Given the description of an element on the screen output the (x, y) to click on. 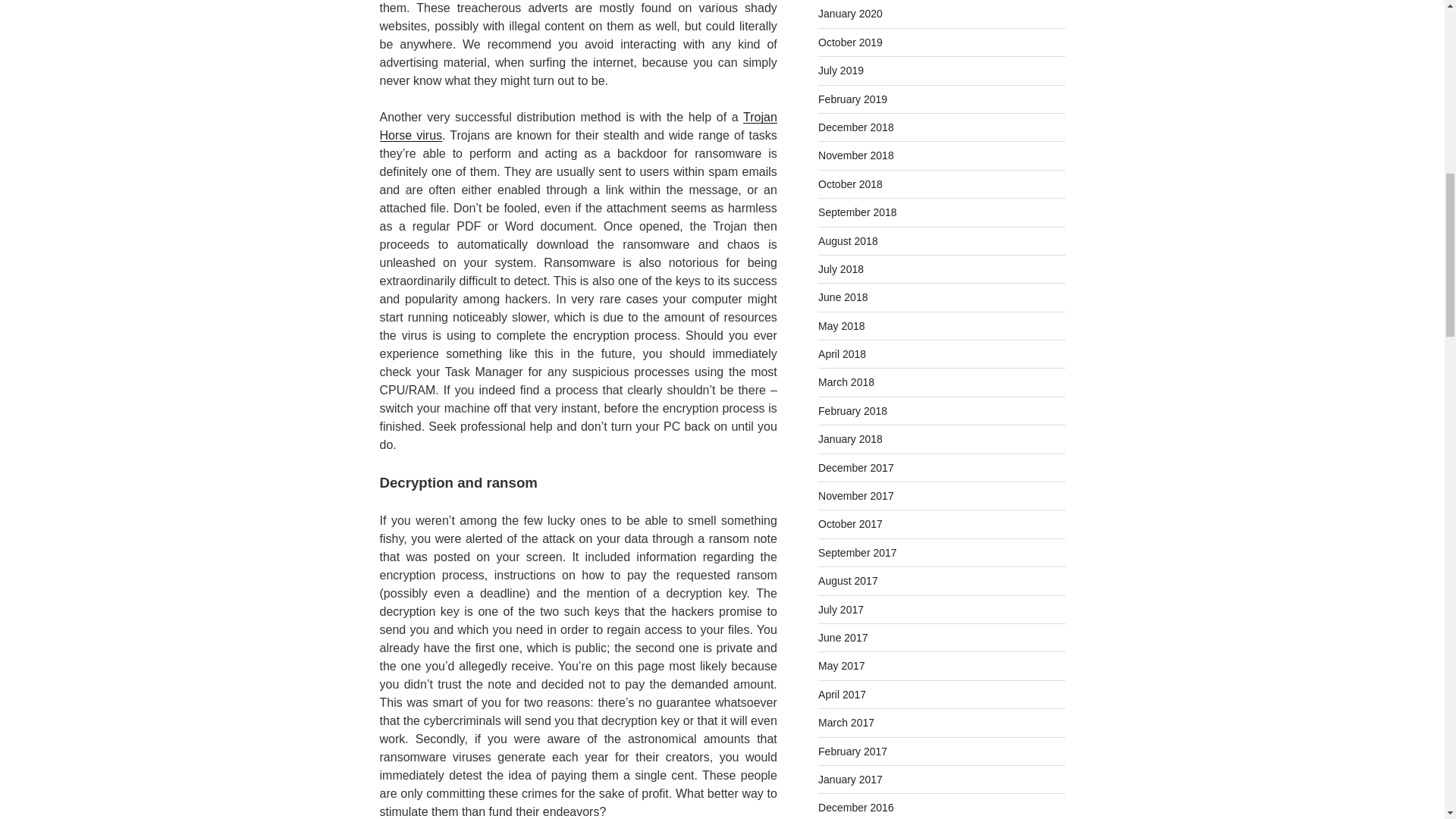
Trojan Horse virus (577, 125)
October 2019 (850, 42)
December 2018 (855, 127)
May 2018 (841, 326)
January 2020 (850, 13)
July 2019 (840, 70)
February 2019 (852, 99)
October 2018 (850, 184)
April 2018 (842, 354)
March 2018 (846, 381)
February 2018 (852, 410)
August 2018 (847, 241)
November 2018 (855, 155)
July 2018 (840, 268)
September 2018 (857, 212)
